Given the description of an element on the screen output the (x, y) to click on. 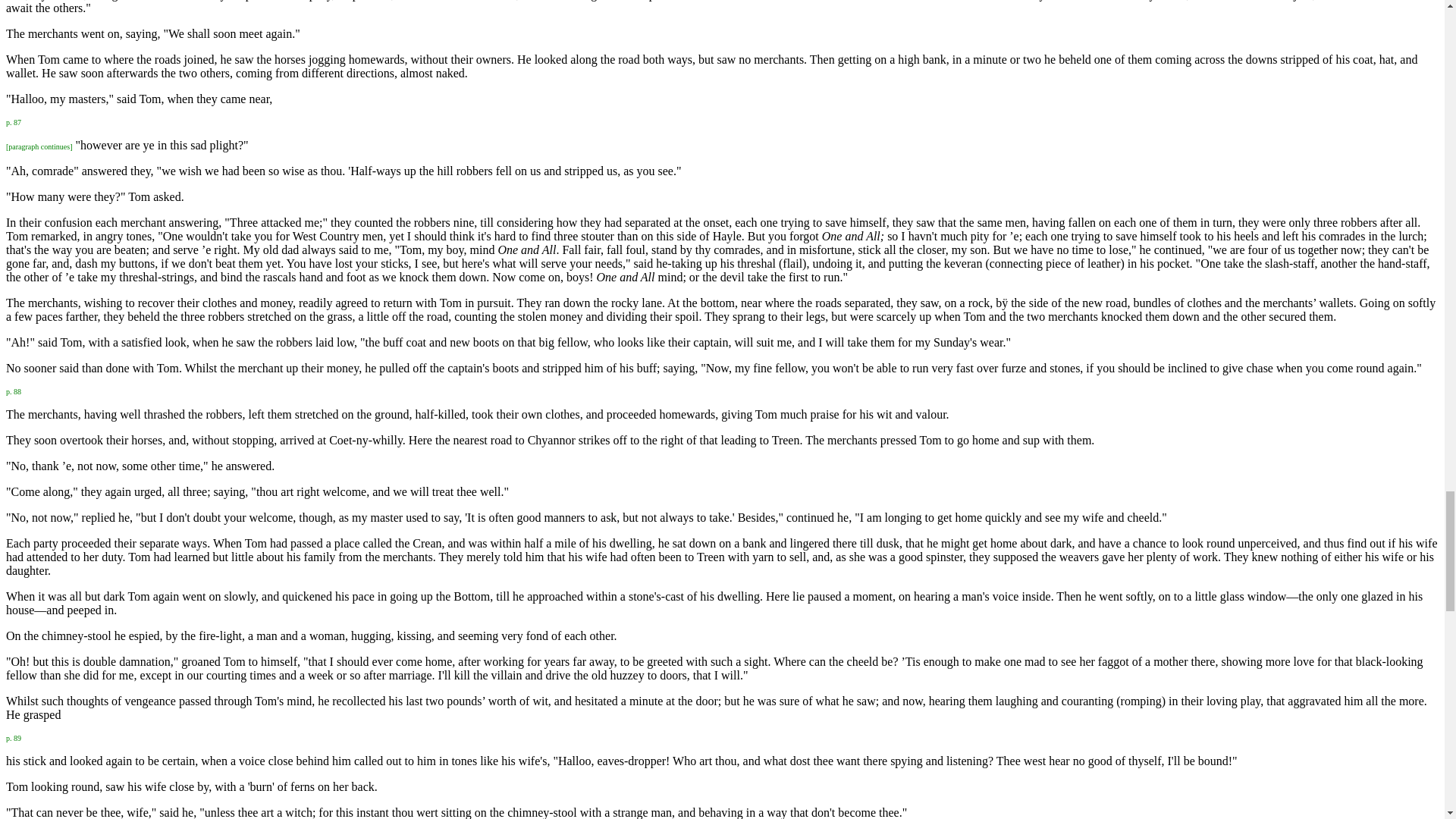
p. 89 (13, 736)
p. 87 (13, 120)
p. 88 (13, 390)
